Given the description of an element on the screen output the (x, y) to click on. 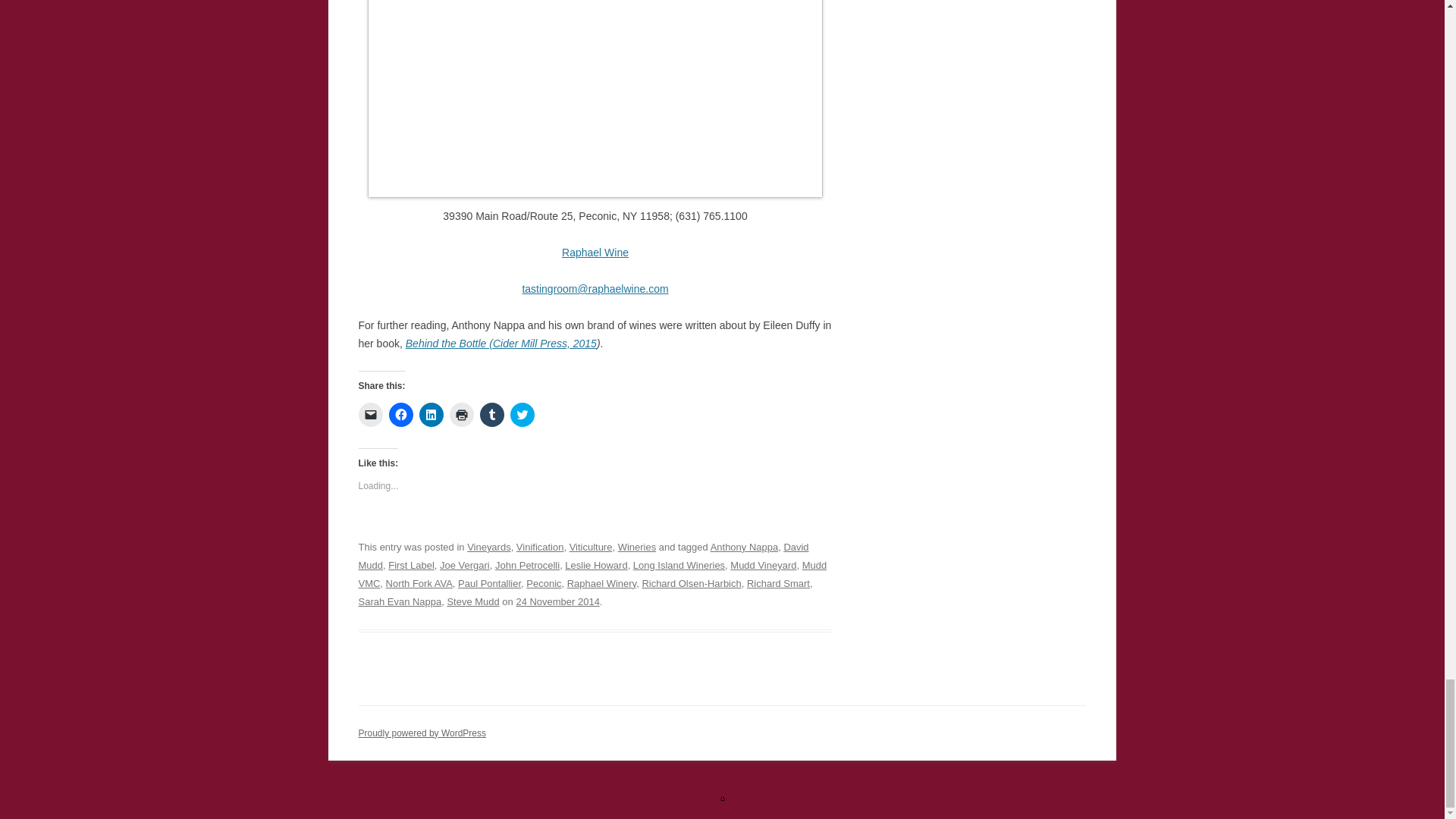
Anthony Nappa (744, 546)
Mudd VMC (592, 573)
Viticulture (590, 546)
Raphael logo (595, 99)
Vineyards (489, 546)
Click to share on LinkedIn (430, 414)
Click to share on Twitter (521, 414)
Long Island Wineries (679, 564)
First Label (410, 564)
Wineries (636, 546)
Leslie Howard (595, 564)
Click to share on Facebook (400, 414)
Click to email a link to a friend (369, 414)
Click to share on Tumblr (491, 414)
20:00 (556, 601)
